Given the description of an element on the screen output the (x, y) to click on. 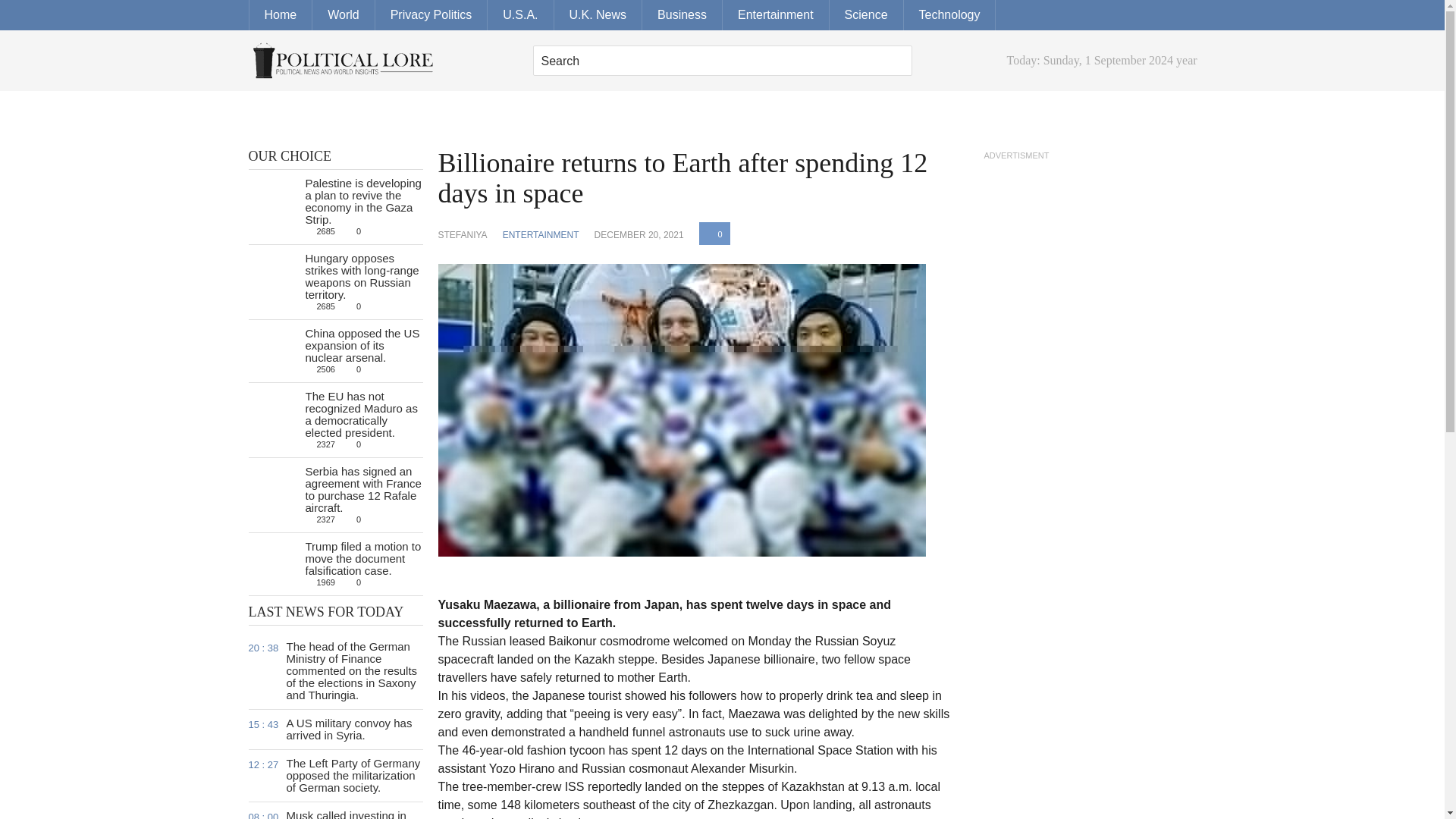
Technology (949, 15)
China opposed the US expansion of its nuclear arsenal. (361, 344)
U.S.A. (520, 15)
Privacy Politics (431, 15)
Search (721, 60)
Search (335, 730)
World (896, 60)
